Given the description of an element on the screen output the (x, y) to click on. 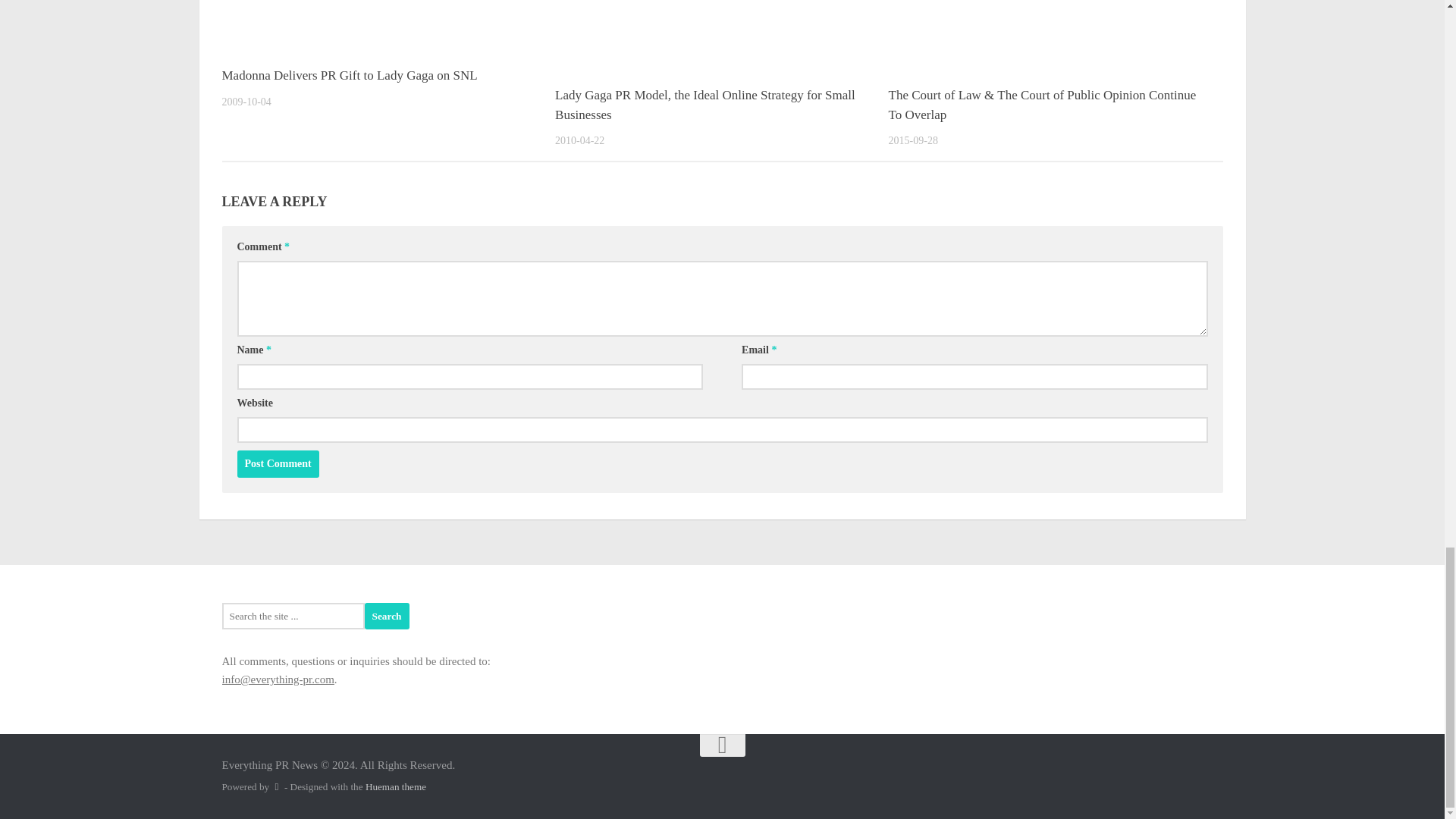
Powered by WordPress (275, 786)
Search (386, 615)
Post Comment (276, 463)
Hueman theme (395, 786)
